Given the description of an element on the screen output the (x, y) to click on. 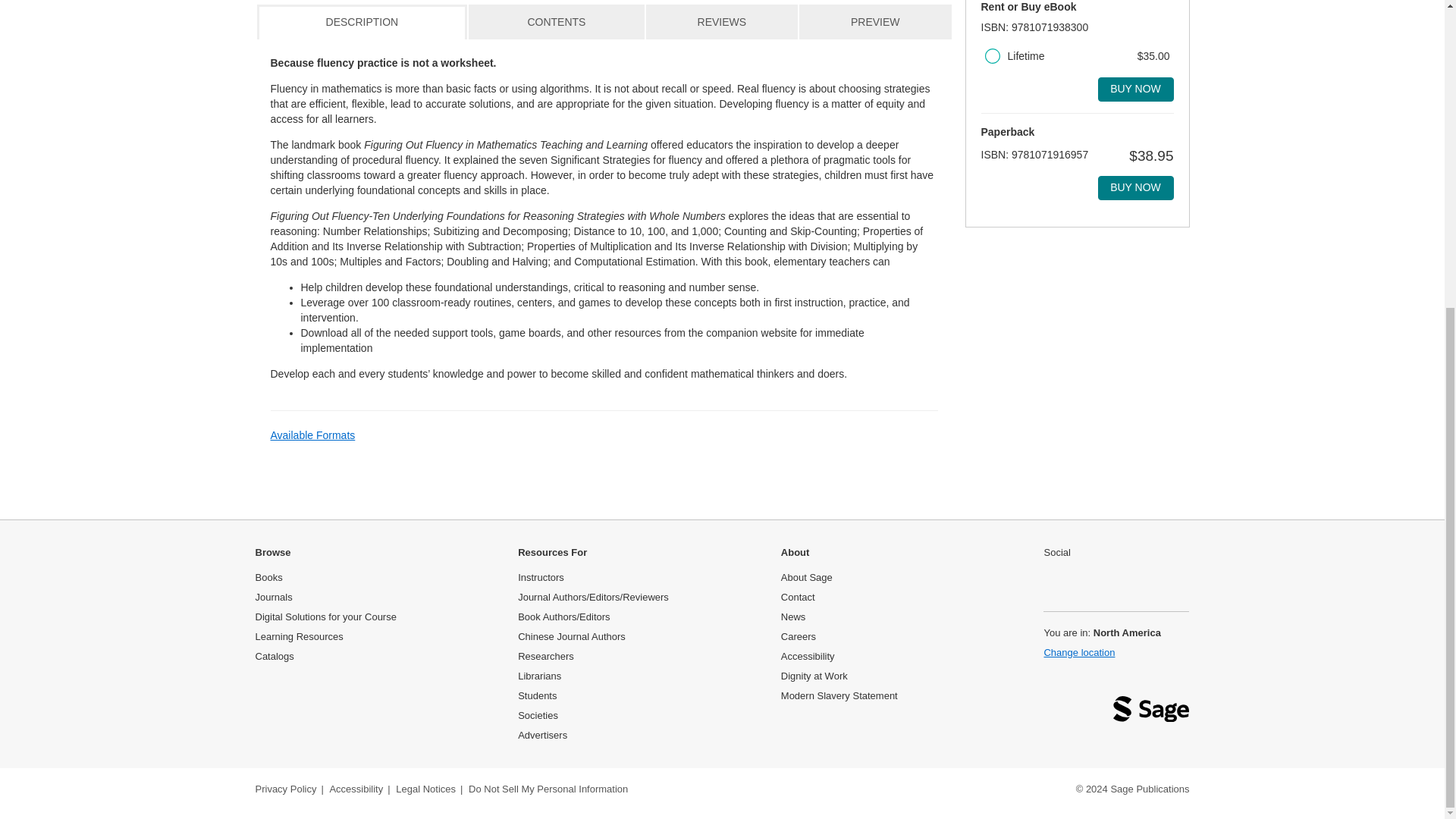
Buy now (1135, 187)
29 (991, 55)
Sage logo: link back to homepage (1151, 712)
Buy now (1135, 88)
Catalogs (274, 655)
